Given the description of an element on the screen output the (x, y) to click on. 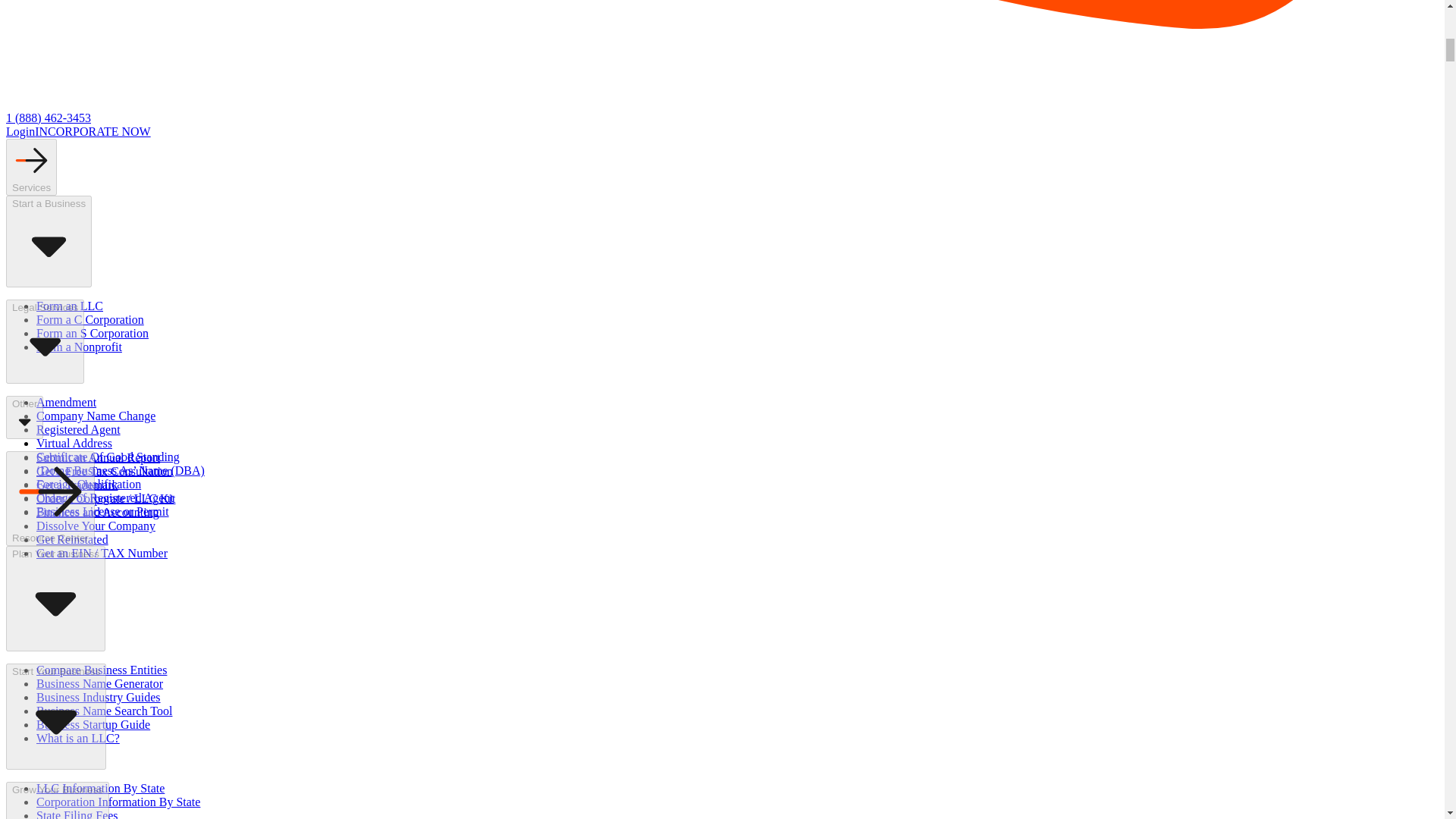
Services (30, 166)
Amendment (66, 401)
Login (19, 131)
INCORPORATE NOW (91, 131)
Form a C Corporation (90, 318)
Legal Services (44, 341)
Submit an Annual Report (98, 457)
Virtual Address (74, 442)
Form a Nonprofit (79, 346)
Start a Business (48, 241)
Get a Free Tax Consultation (104, 471)
Form an LLC (69, 305)
Company Name Change (95, 415)
Get Reinstated (71, 539)
Finances and Accounting (97, 512)
